Given the description of an element on the screen output the (x, y) to click on. 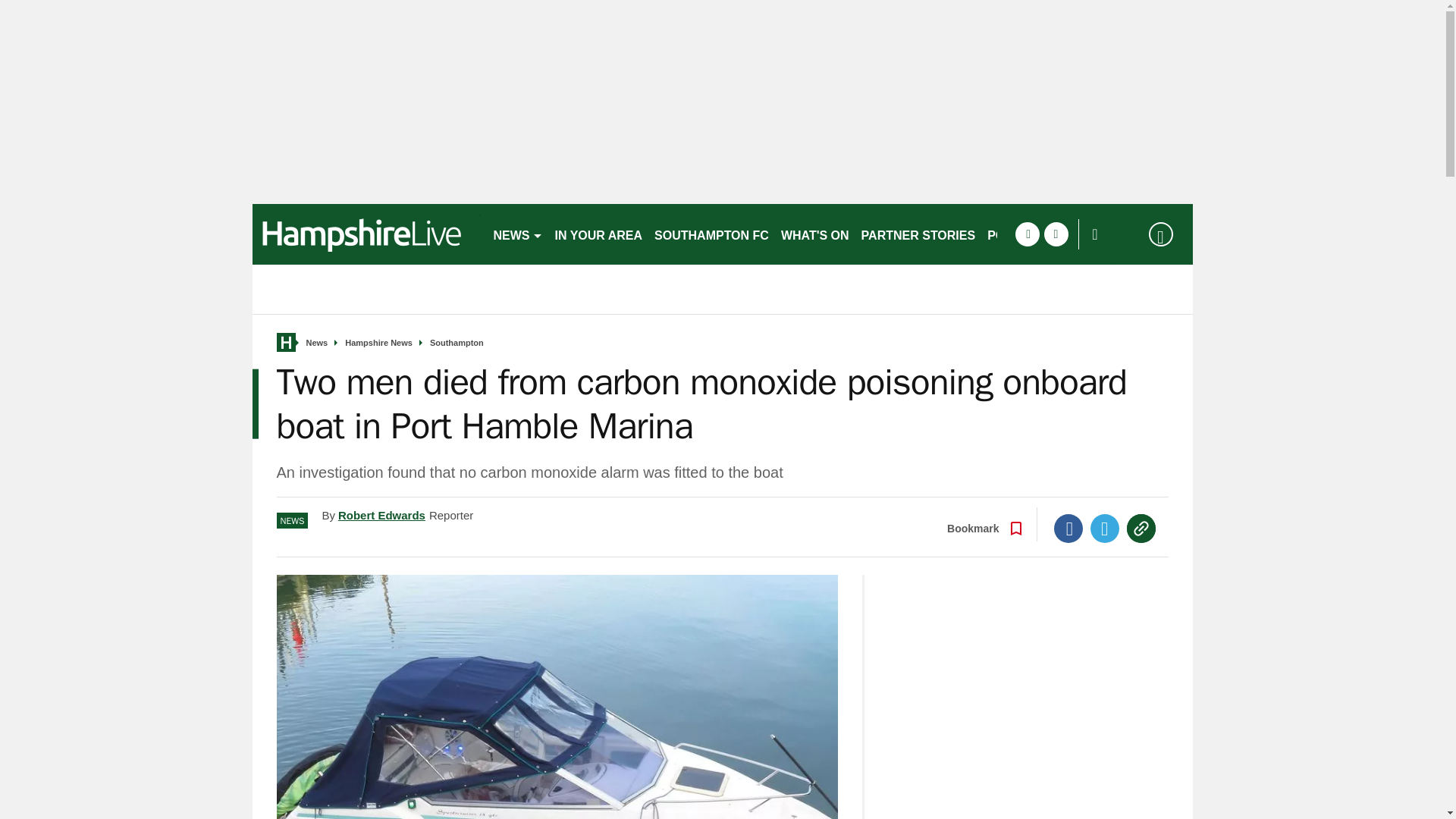
twitter (1055, 233)
NEWS (517, 233)
hampshirelive (365, 233)
SOUTHAMPTON FC (710, 233)
facebook (1026, 233)
WHAT'S ON (815, 233)
Twitter (1104, 528)
PARTNER STORIES (918, 233)
PORTSMOUTH FC (1040, 233)
Facebook (1068, 528)
IN YOUR AREA (598, 233)
